Given the description of an element on the screen output the (x, y) to click on. 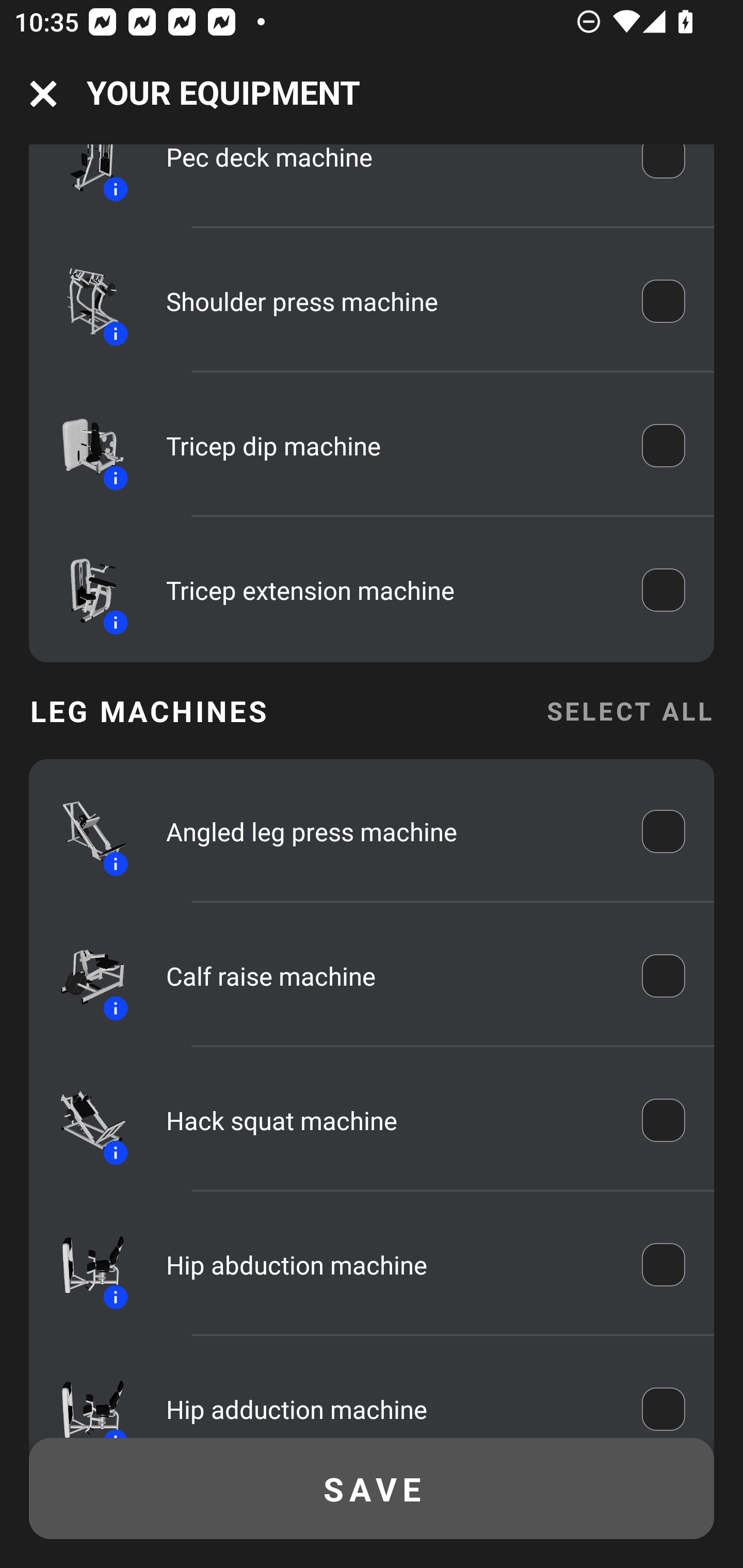
Navigation icon (43, 93)
Equipment icon Information icon (82, 177)
Pec deck machine (389, 172)
Equipment icon Information icon (82, 301)
Shoulder press machine (389, 300)
Equipment icon Information icon (82, 446)
Tricep dip machine (389, 445)
Equipment icon Information icon (82, 590)
Tricep extension machine (389, 590)
SELECT ALL (629, 710)
Equipment icon Information icon (82, 831)
Angled leg press machine (389, 831)
Equipment icon Information icon (82, 975)
Calf raise machine (389, 975)
Equipment icon Information icon (82, 1120)
Hack squat machine (389, 1120)
Equipment icon Information icon (82, 1264)
Hip abduction machine (389, 1264)
Equipment icon Information icon (82, 1395)
Hip adduction machine (389, 1401)
SAVE (371, 1488)
